Given the description of an element on the screen output the (x, y) to click on. 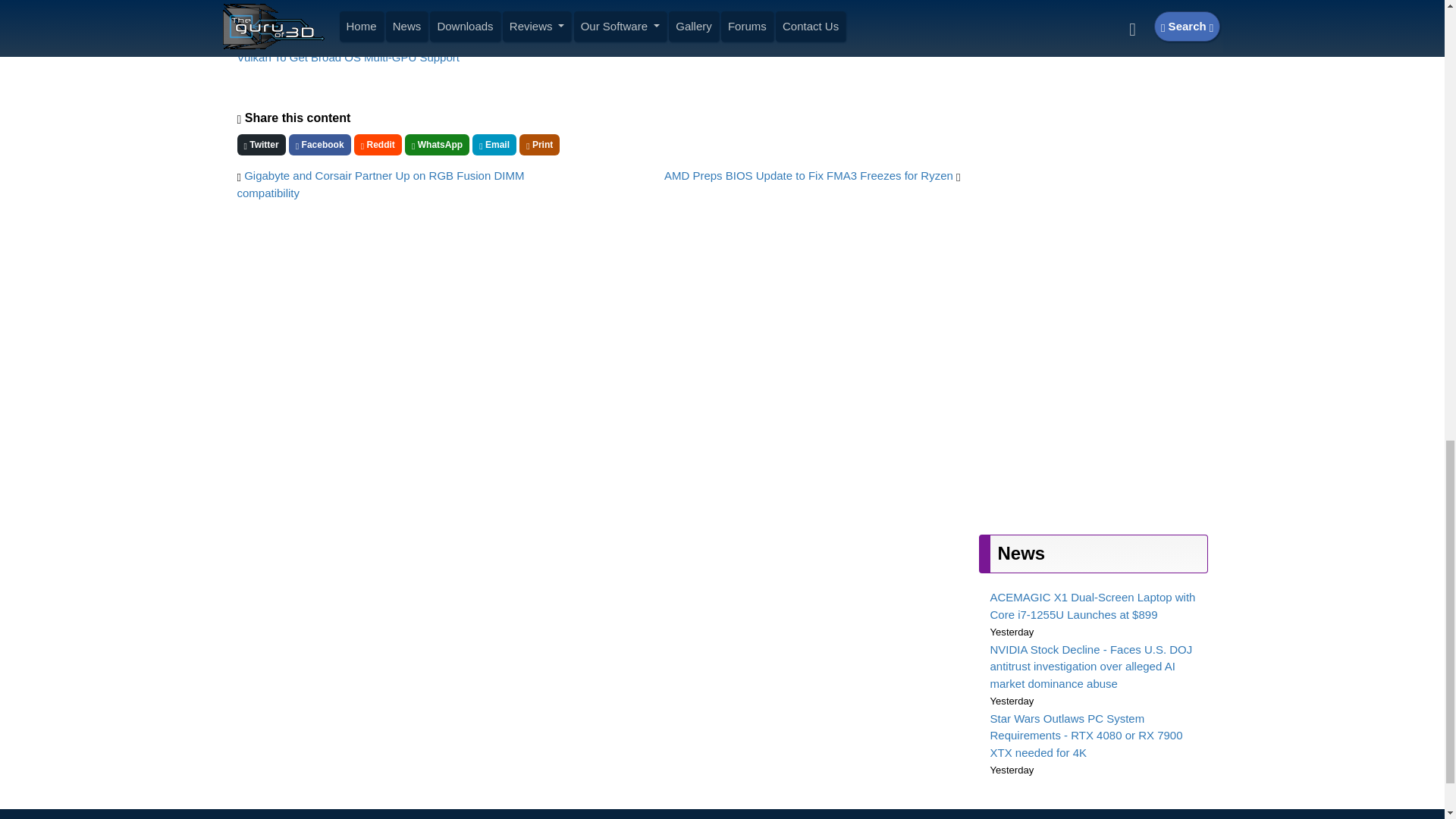
Reddit (377, 144)
Twitter (260, 144)
Facebook (319, 144)
Vulkan To Get Broad OS Multi-GPU Support (346, 56)
